Given the description of an element on the screen output the (x, y) to click on. 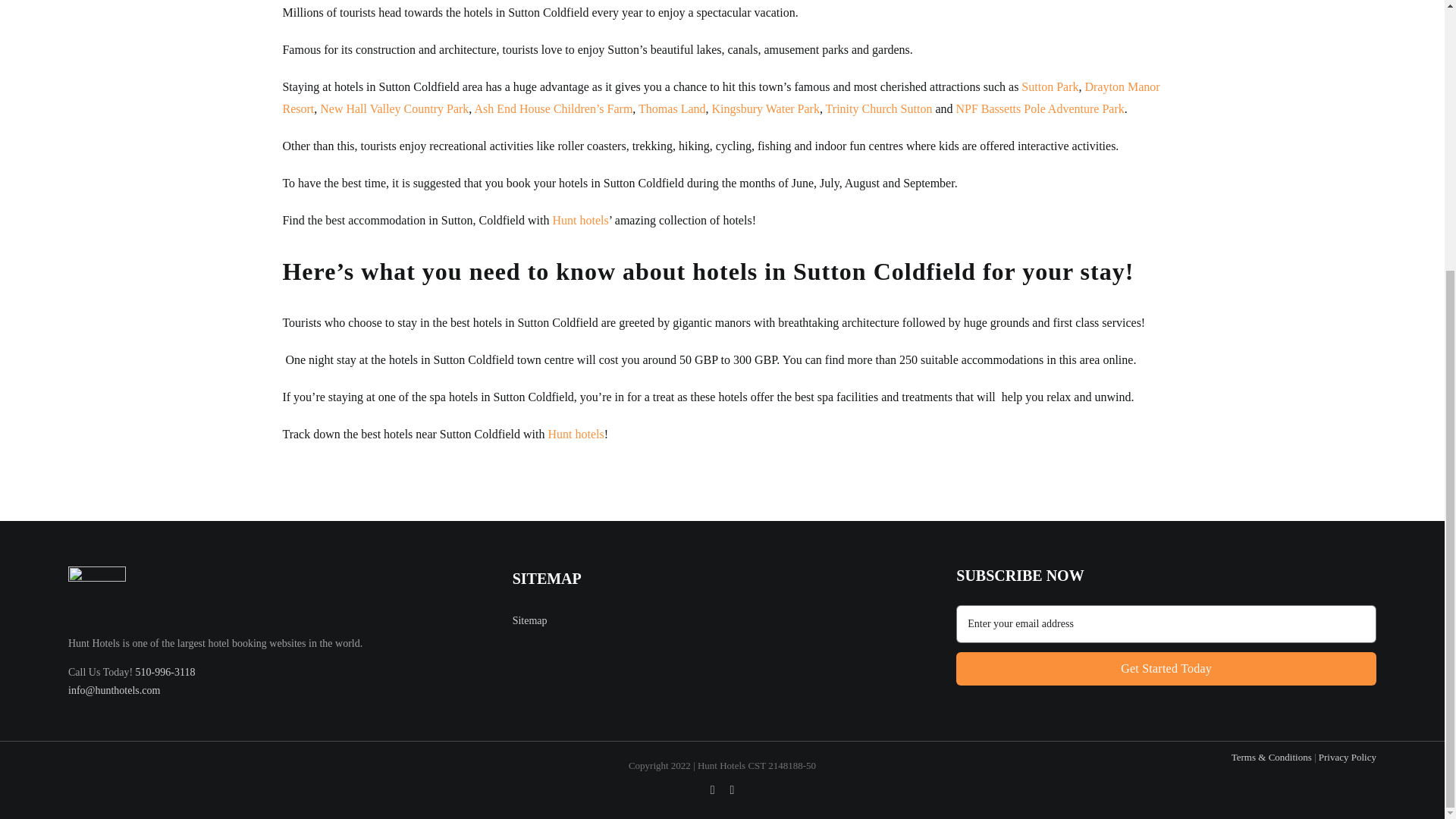
Kingsbury Water Park (764, 108)
Twitter (731, 789)
Trinity Church Sutton (879, 108)
510-996-3118 (165, 672)
Drayton Manor Resort (720, 97)
Twitter (731, 789)
New Hall Valley Country Park (394, 108)
Hunt hotels (1165, 636)
Facebook (576, 433)
Facebook (712, 789)
NPF Bassetts Pole Adventure Park (712, 789)
Sutton Park (1039, 108)
Sitemap (1050, 86)
Privacy Policy (529, 620)
